Given the description of an element on the screen output the (x, y) to click on. 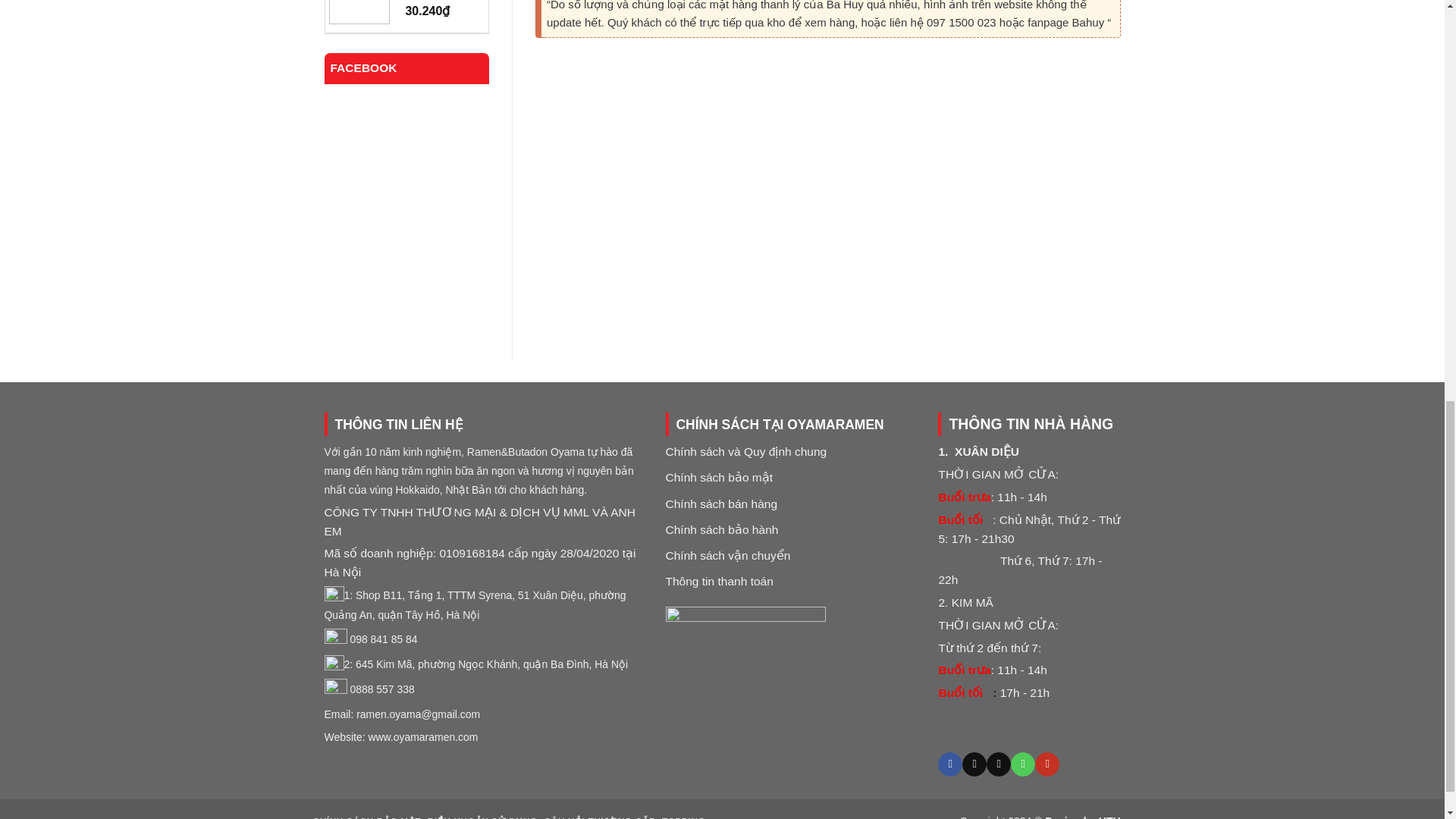
Call us (1022, 764)
Send us an email (998, 764)
Follow on TikTok (974, 764)
Follow on Facebook (949, 764)
Coca Lite (437, 1)
